Given the description of an element on the screen output the (x, y) to click on. 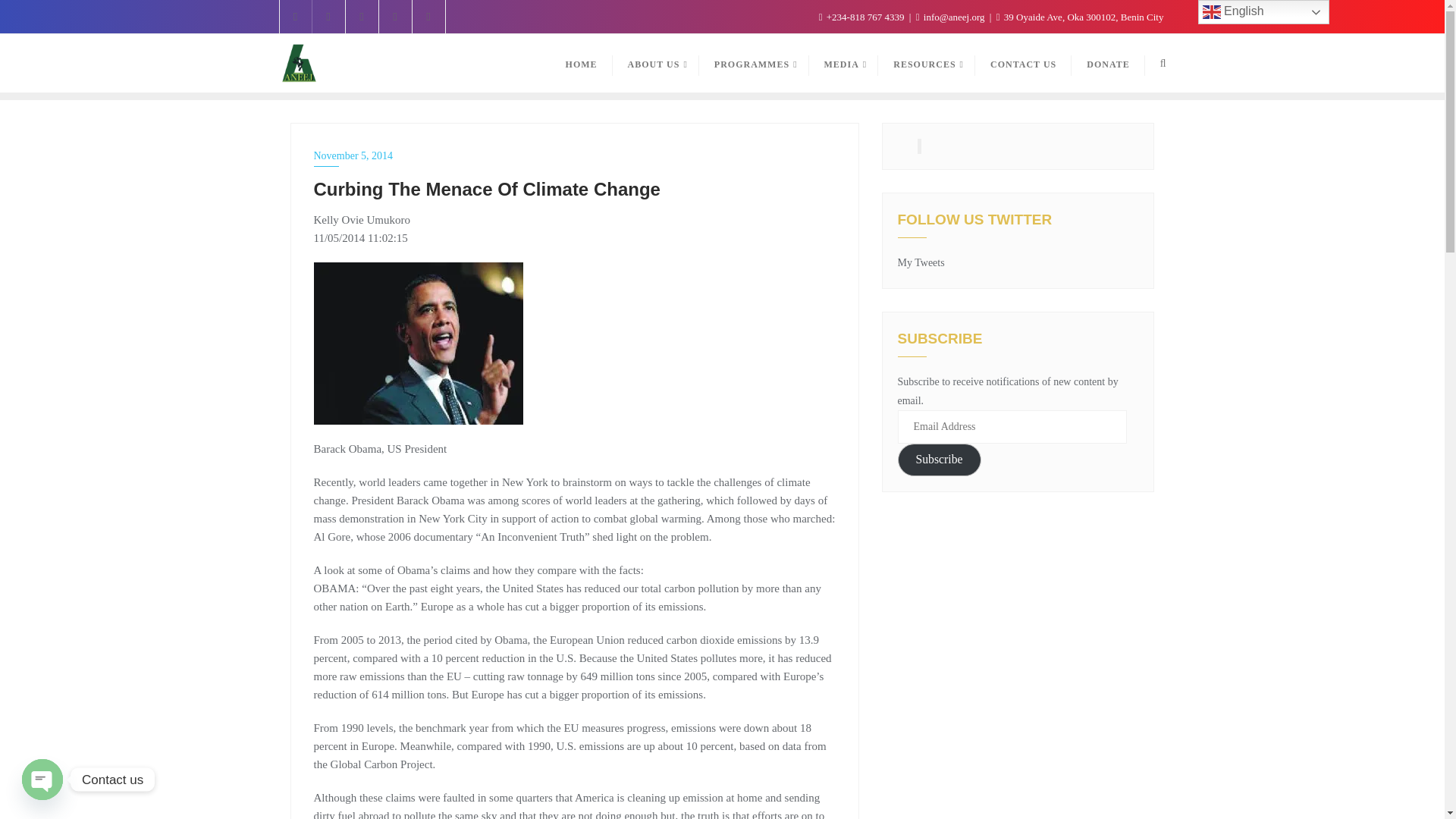
CONTACT US (1023, 63)
HOME (581, 63)
DONATE (1107, 63)
ABOUT US (655, 63)
MEDIA (844, 63)
RESOURCES (926, 63)
PROGRAMMES (753, 63)
